Given the description of an element on the screen output the (x, y) to click on. 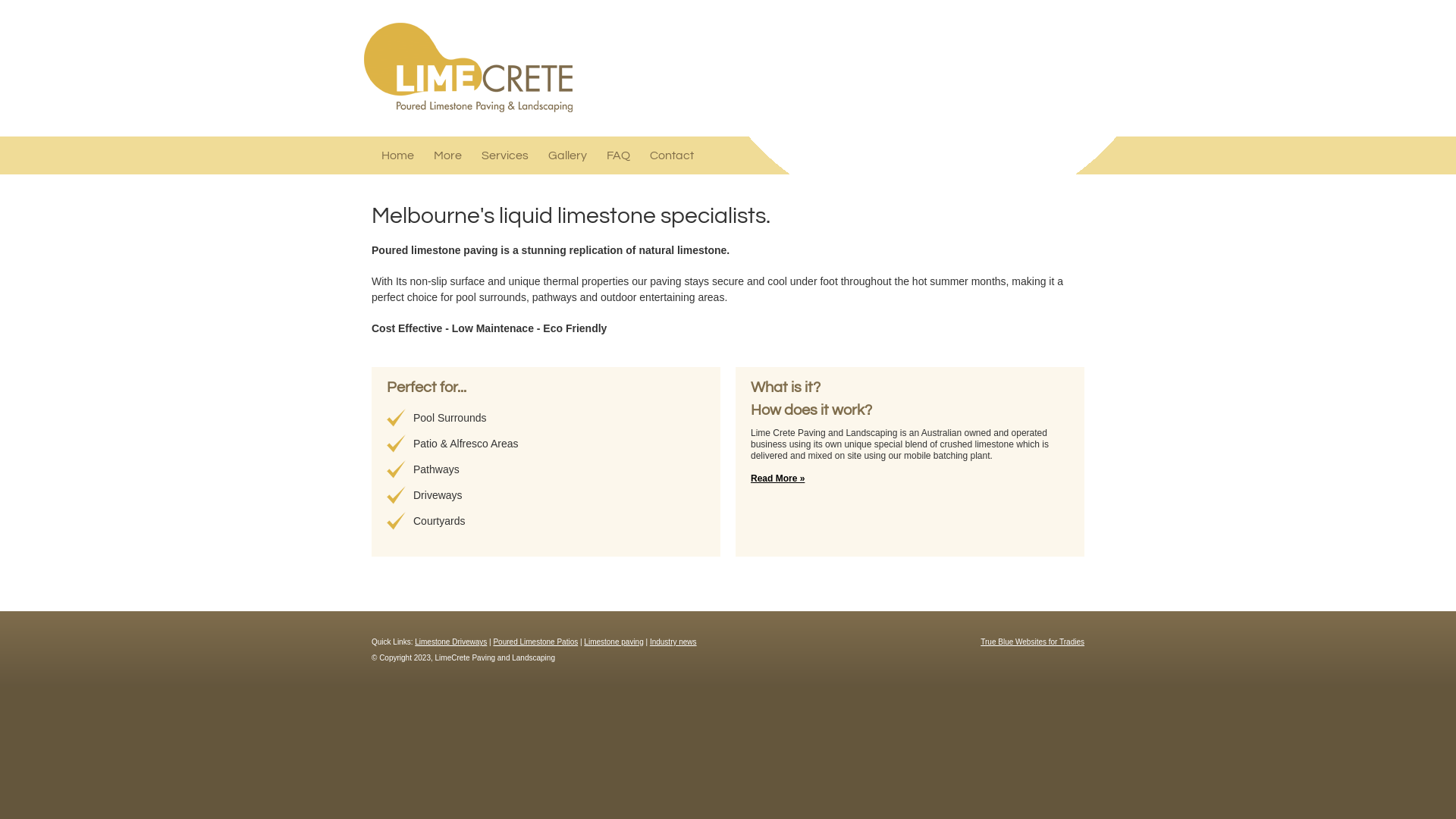
Limestone paving Element type: text (613, 641)
True Blue Websites for Tradies Element type: text (1032, 641)
Home Element type: text (397, 155)
Contact Element type: text (671, 155)
Gallery Element type: text (567, 155)
Limestone Driveways Element type: text (450, 641)
FAQ Element type: text (618, 155)
Services Element type: text (504, 155)
More Element type: text (447, 155)
Industry news Element type: text (672, 641)
Poured Limestone Patios Element type: text (534, 641)
